Given the description of an element on the screen output the (x, y) to click on. 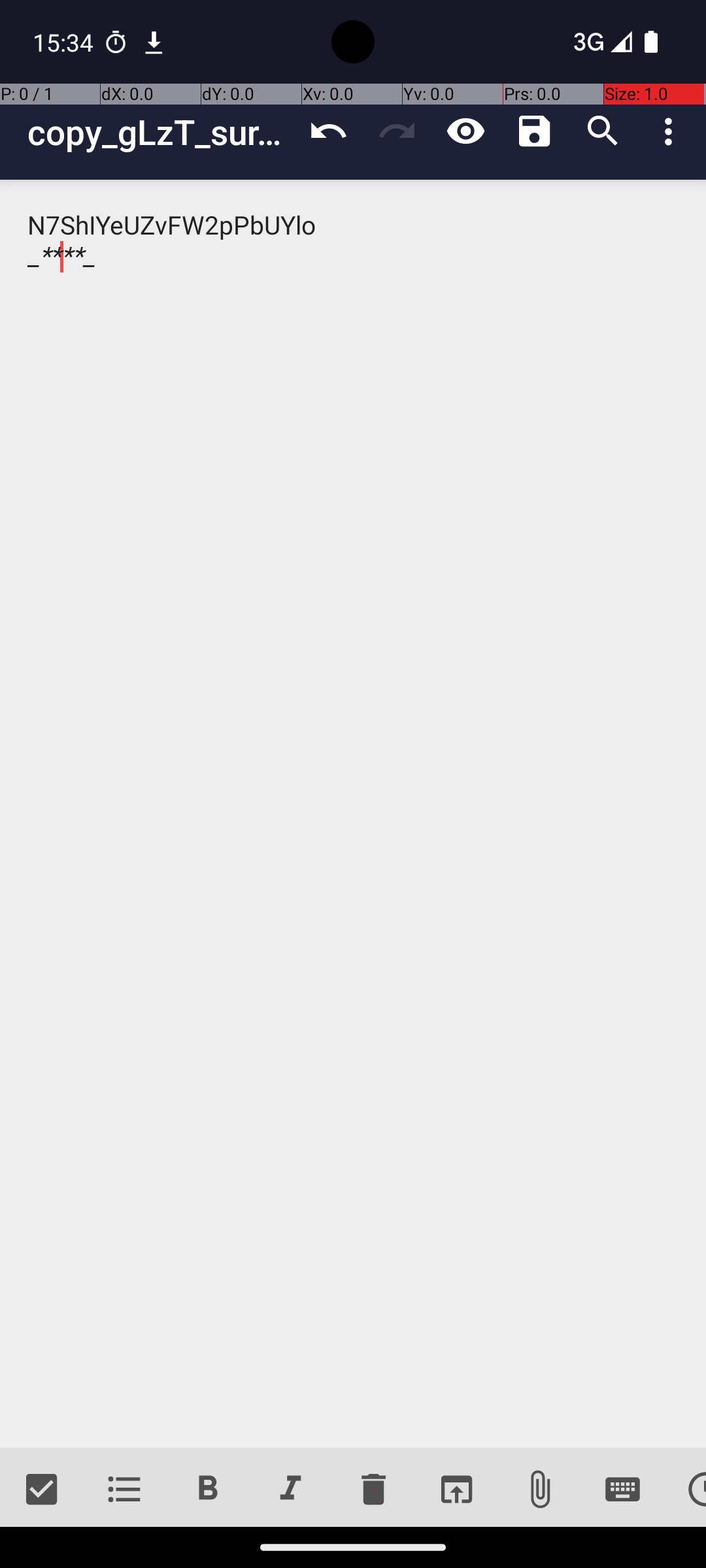
copy_gLzT_sure_nest Element type: android.widget.TextView (160, 131)
N7ShIYeUZvFW2pPbUYlo
_****_ Element type: android.widget.EditText (353, 813)
